Given the description of an element on the screen output the (x, y) to click on. 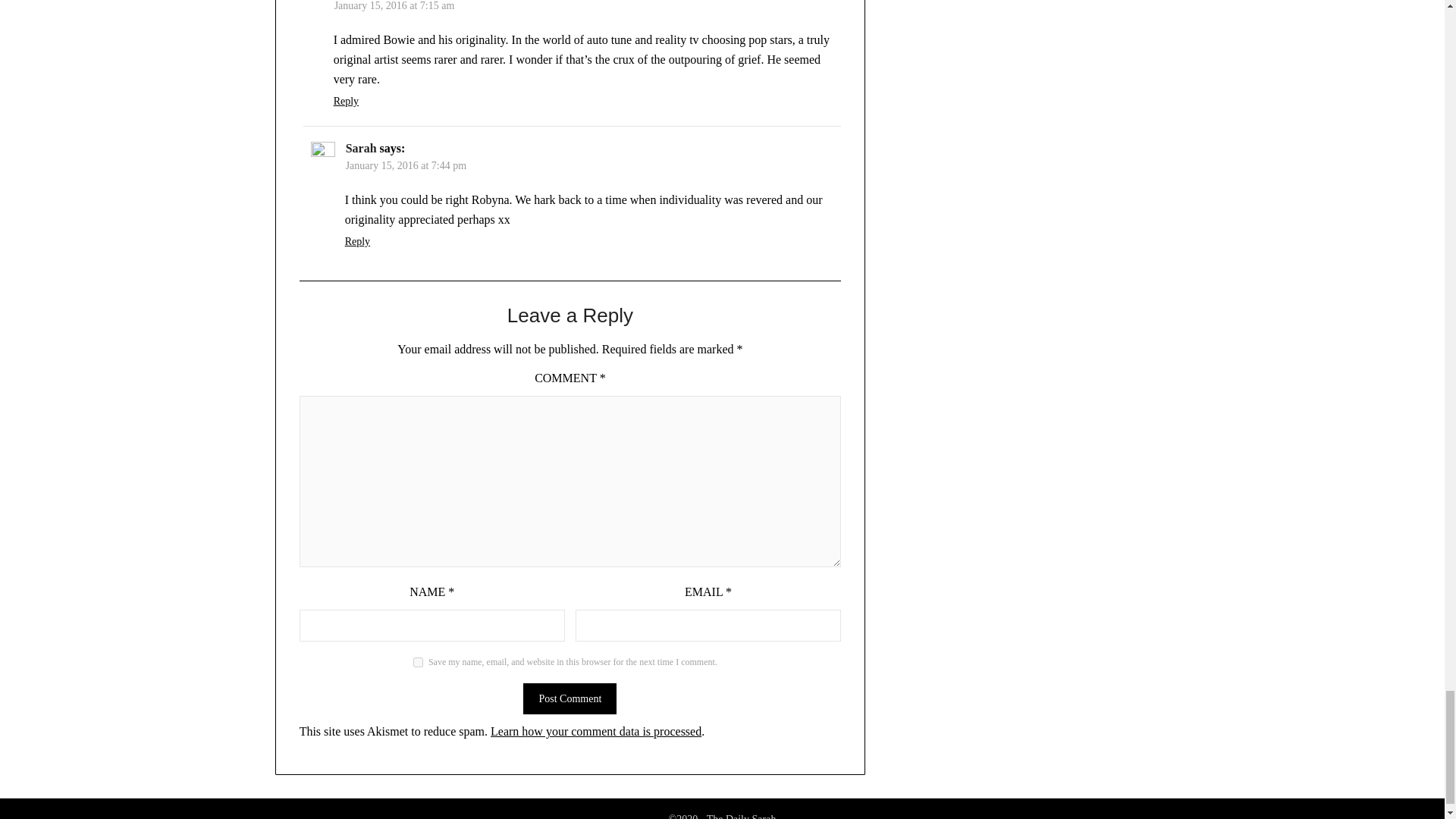
yes (418, 662)
Post Comment (568, 698)
